Given the description of an element on the screen output the (x, y) to click on. 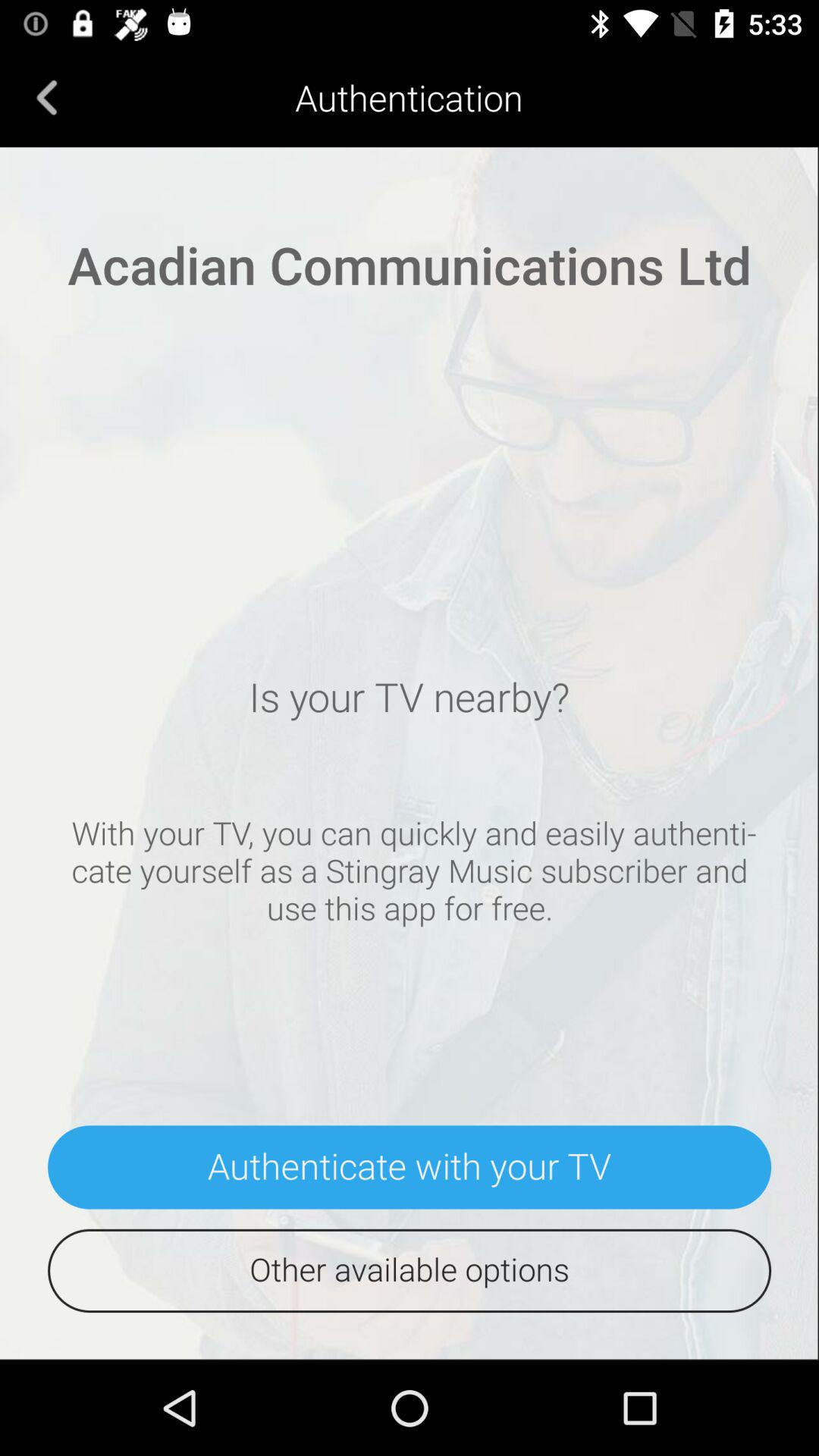
open the item below authenticate with your item (409, 1270)
